Given the description of an element on the screen output the (x, y) to click on. 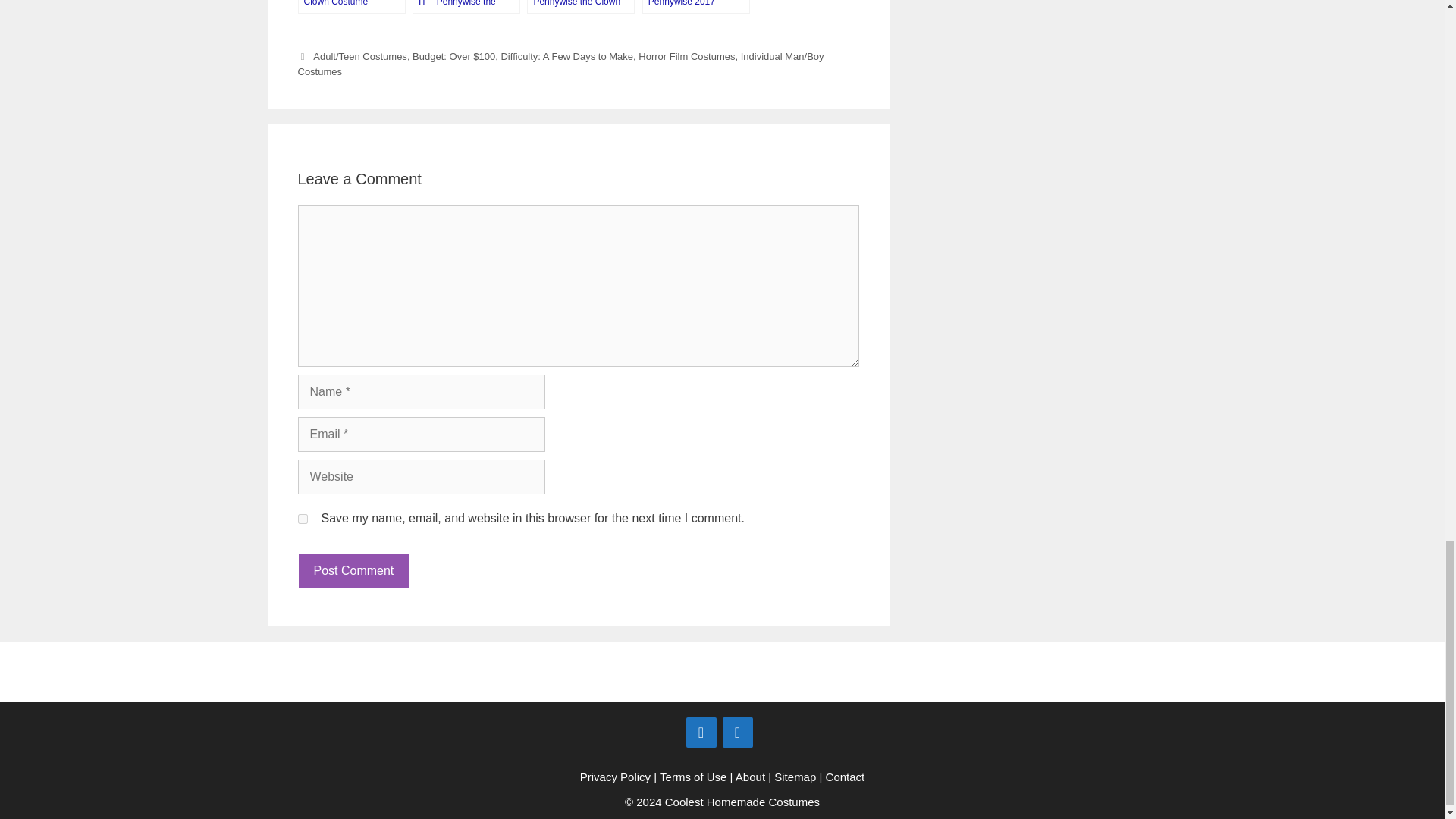
Facebook (700, 732)
yes (302, 519)
Original Homemade Pennywise the Clown Costume (580, 6)
Post Comment (353, 570)
Instagram (737, 732)
The Best Homemade Pennywise 2017 Costume EVER! (695, 6)
Coolest Pennywise the Clown Costume (350, 6)
